Given the description of an element on the screen output the (x, y) to click on. 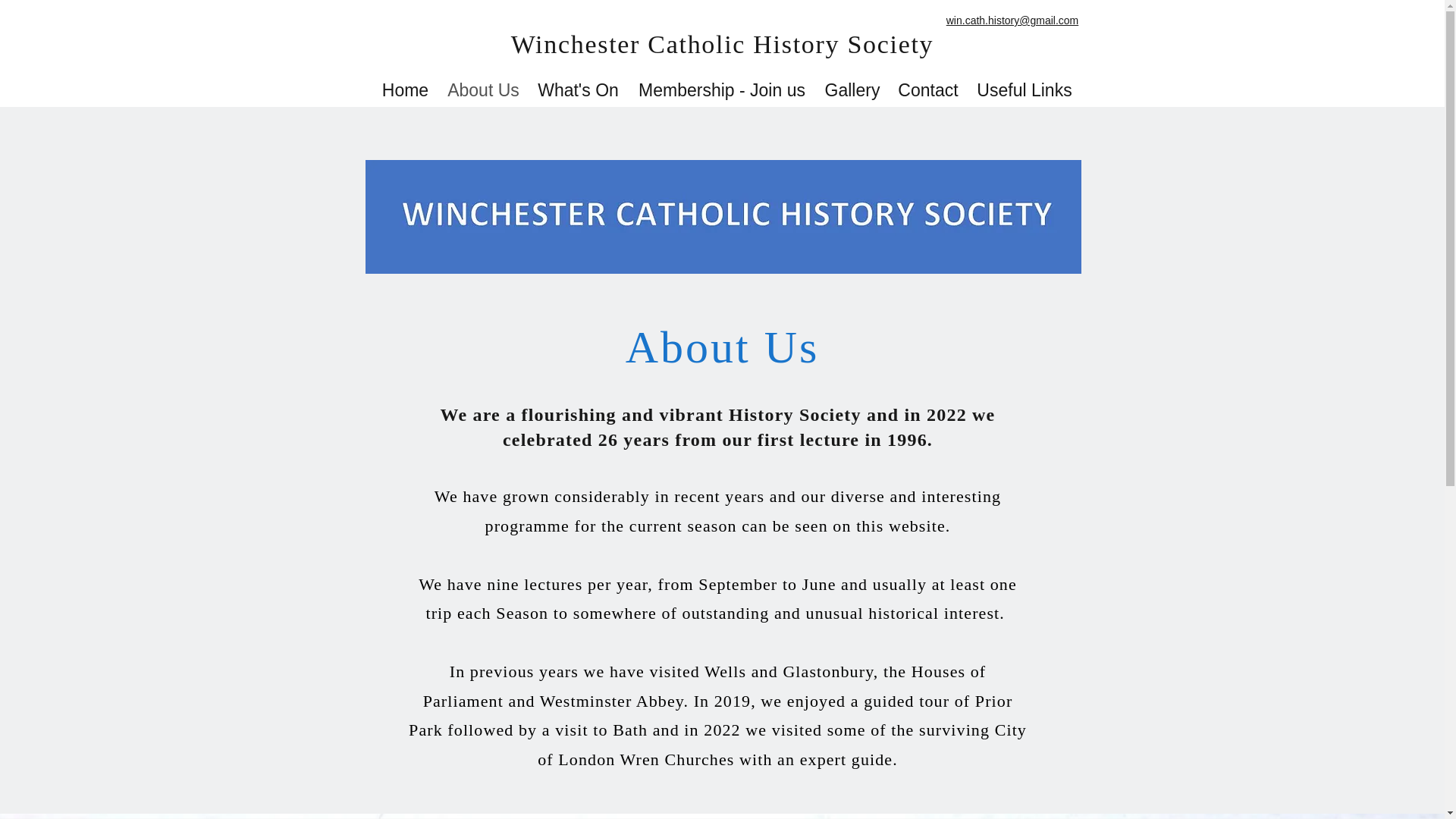
Useful Links (1024, 88)
Membership - Join us (721, 88)
What's On (578, 88)
About Us (483, 88)
Gallery (851, 88)
Contact (928, 88)
Winchester Catholic History Society (722, 44)
Home (405, 88)
